Given the description of an element on the screen output the (x, y) to click on. 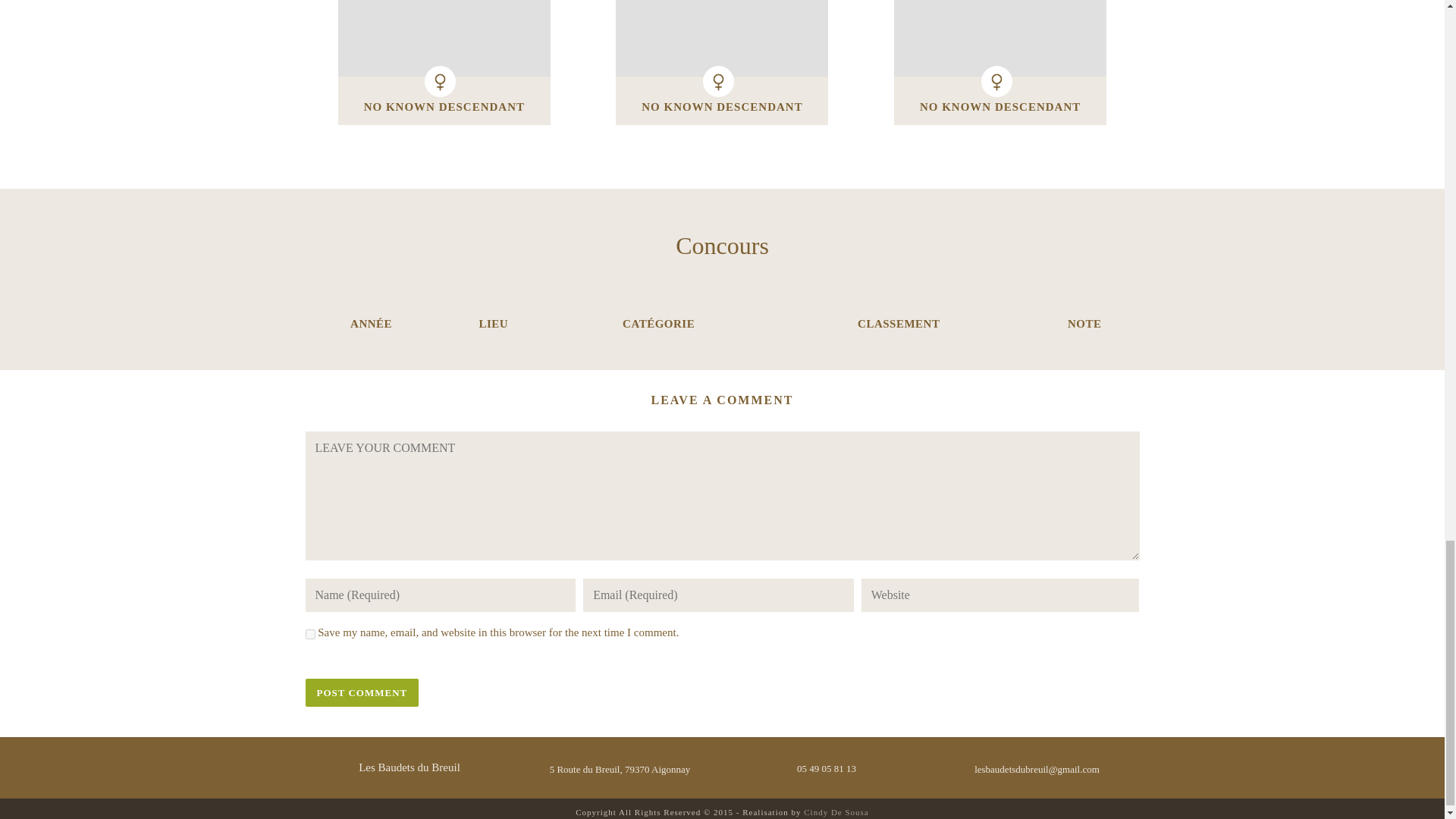
POST COMMENT (361, 692)
yes (309, 634)
